Given the description of an element on the screen output the (x, y) to click on. 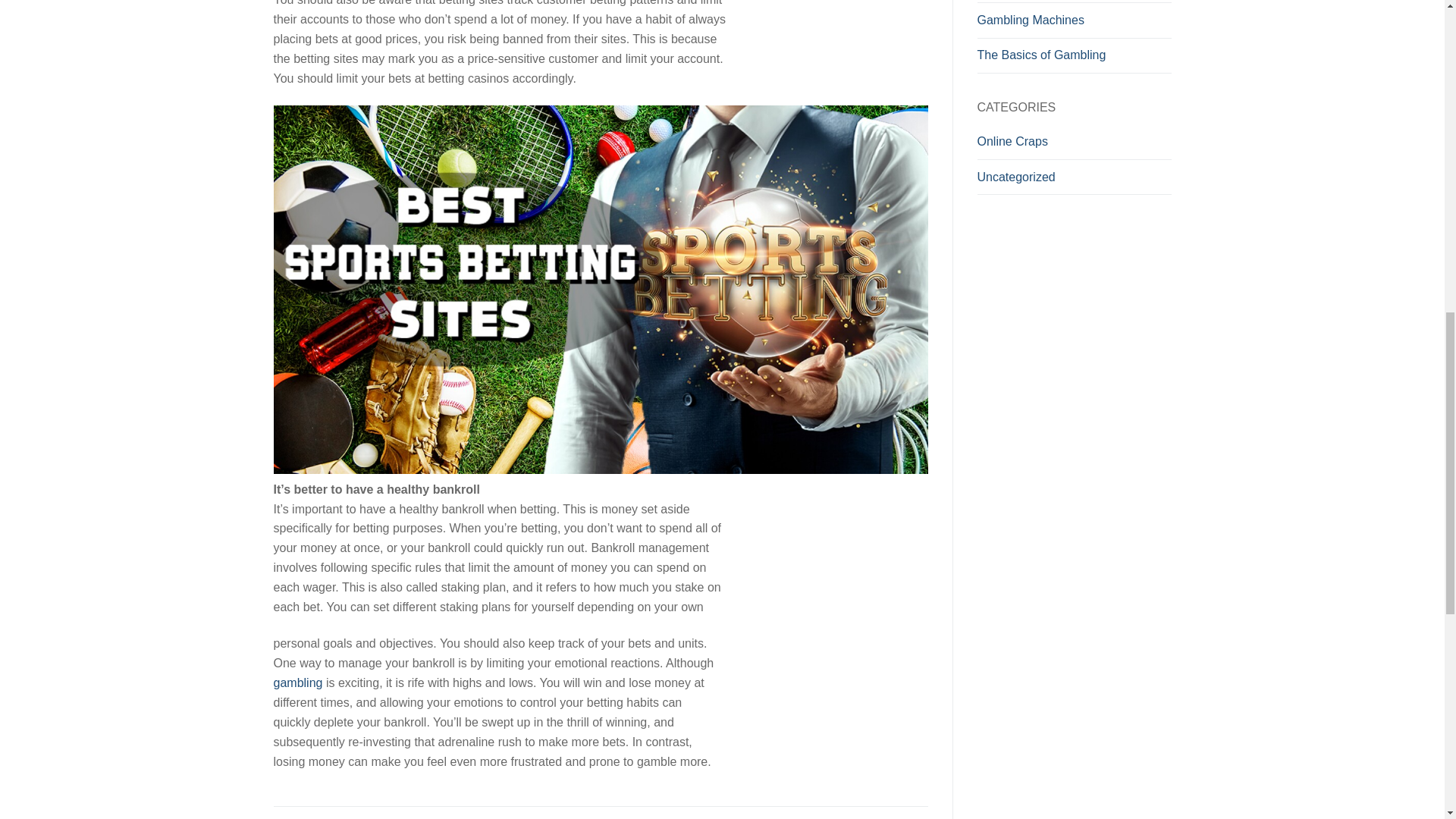
gambling (297, 682)
